Given the description of an element on the screen output the (x, y) to click on. 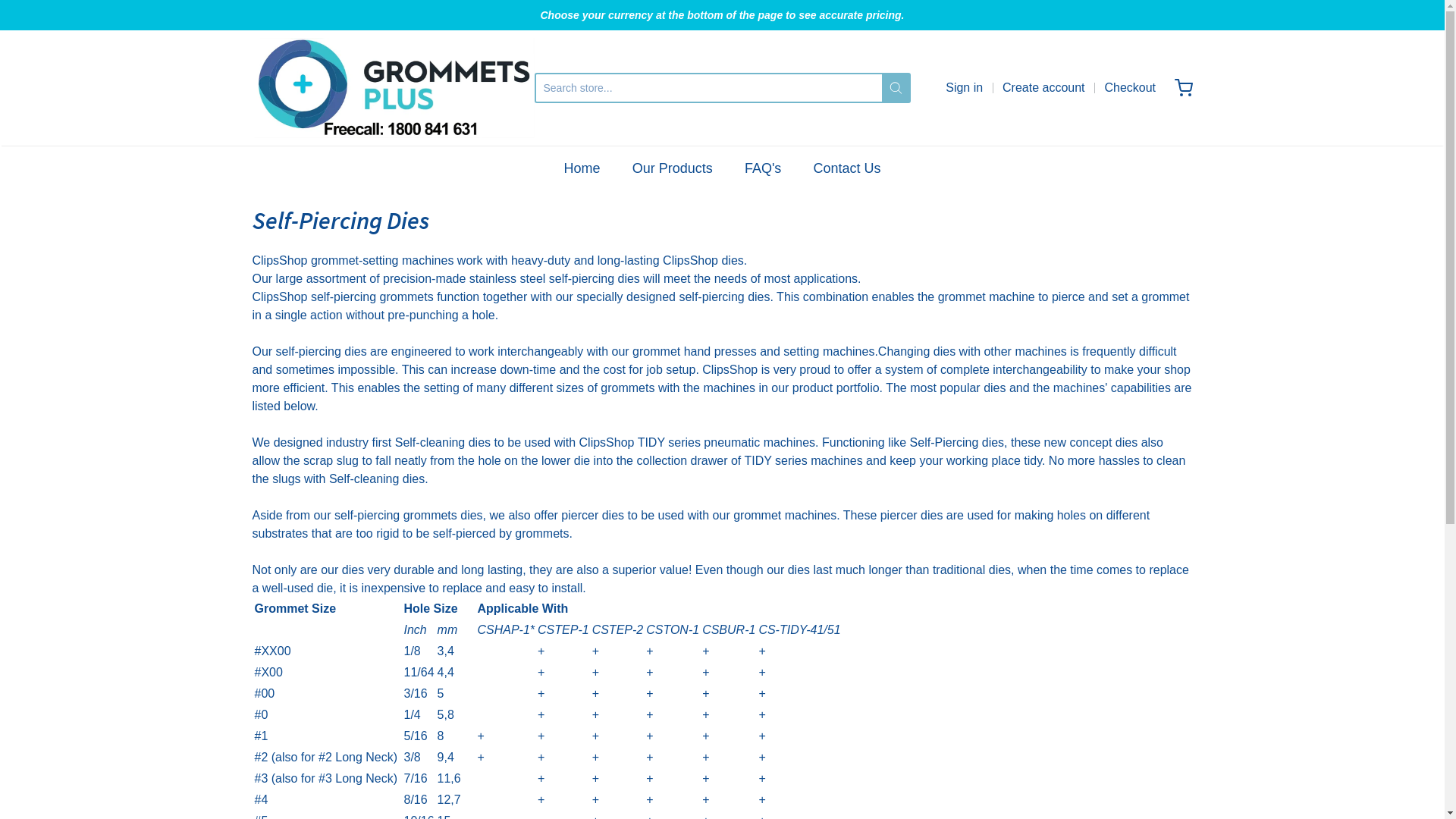
Home Element type: text (581, 167)
Checkout Element type: text (1129, 87)
Our Products Element type: text (672, 167)
Create account Element type: text (1043, 87)
FAQ's Element type: text (762, 167)
Grommets Plus Element type: hover (392, 87)
Contact Us Element type: text (847, 167)
Sign in Element type: text (963, 87)
